Given the description of an element on the screen output the (x, y) to click on. 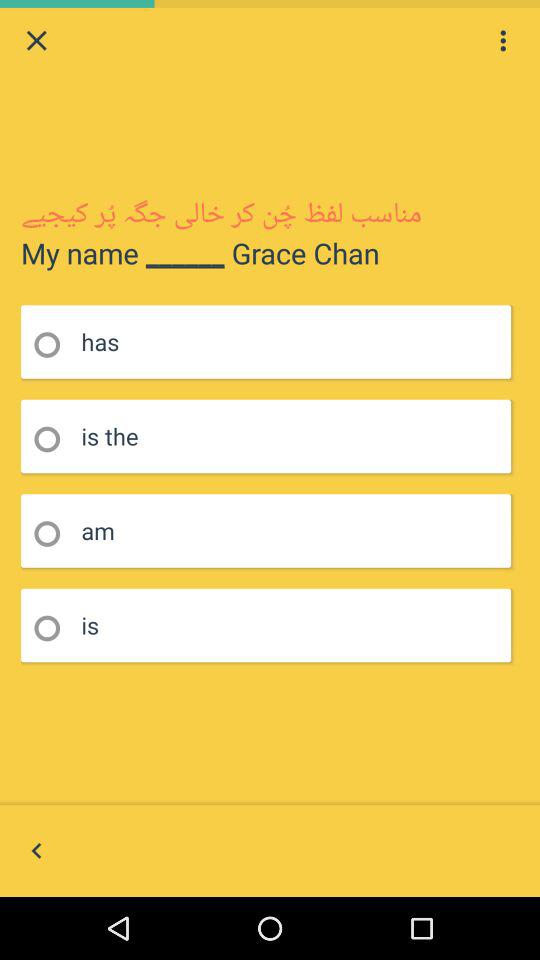
open menu (503, 40)
